Given the description of an element on the screen output the (x, y) to click on. 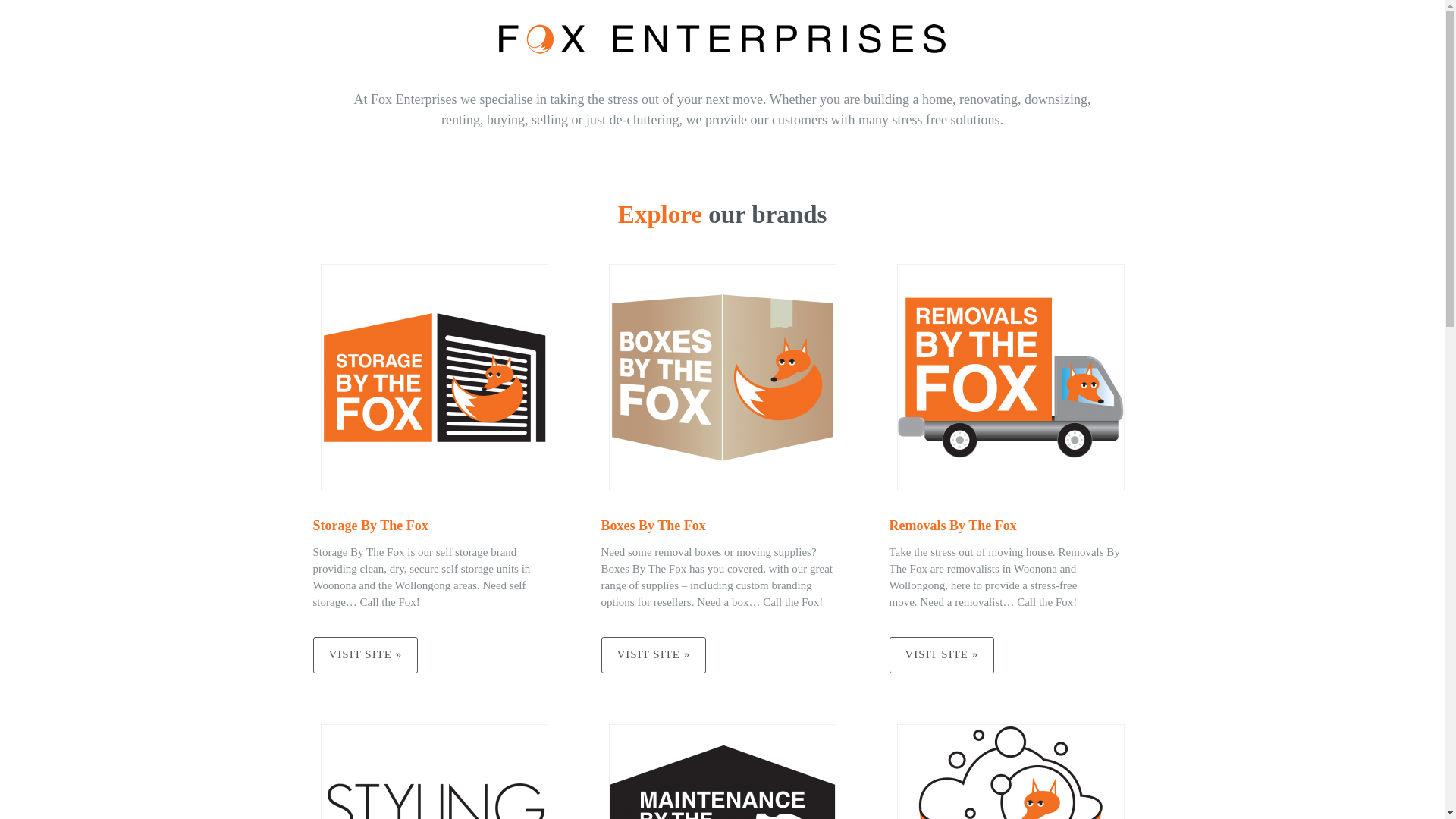
logo_removalsbythefox Element type: hover (1009, 377)
Boxes By The Fox Element type: text (652, 525)
Removals By The Fox Element type: text (952, 525)
Storage By The Fox Element type: text (369, 525)
logo_boxesbythefox Element type: hover (721, 377)
logo_storagebythefox Element type: hover (433, 377)
